Given the description of an element on the screen output the (x, y) to click on. 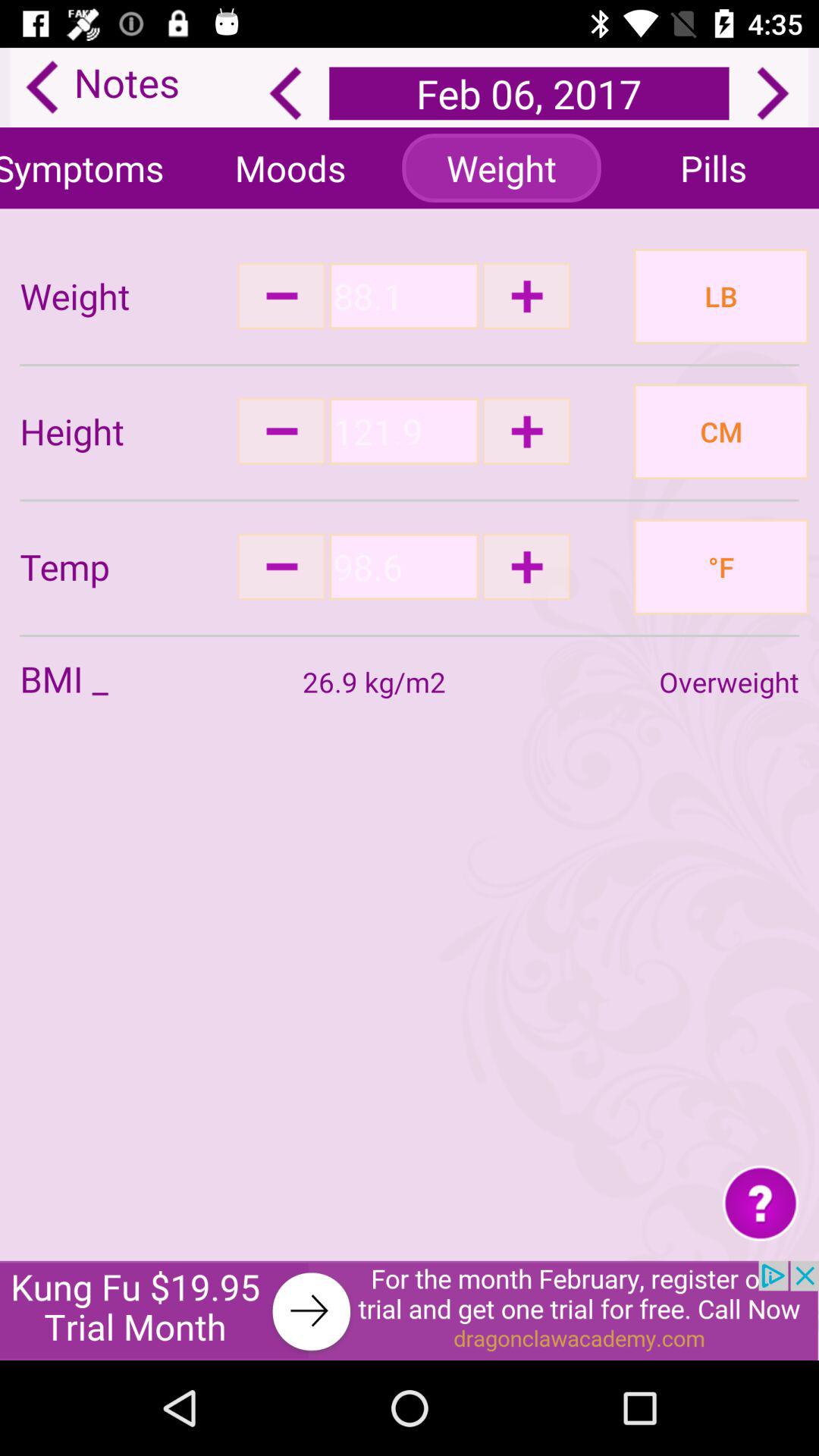
go to next page (772, 93)
